Given the description of an element on the screen output the (x, y) to click on. 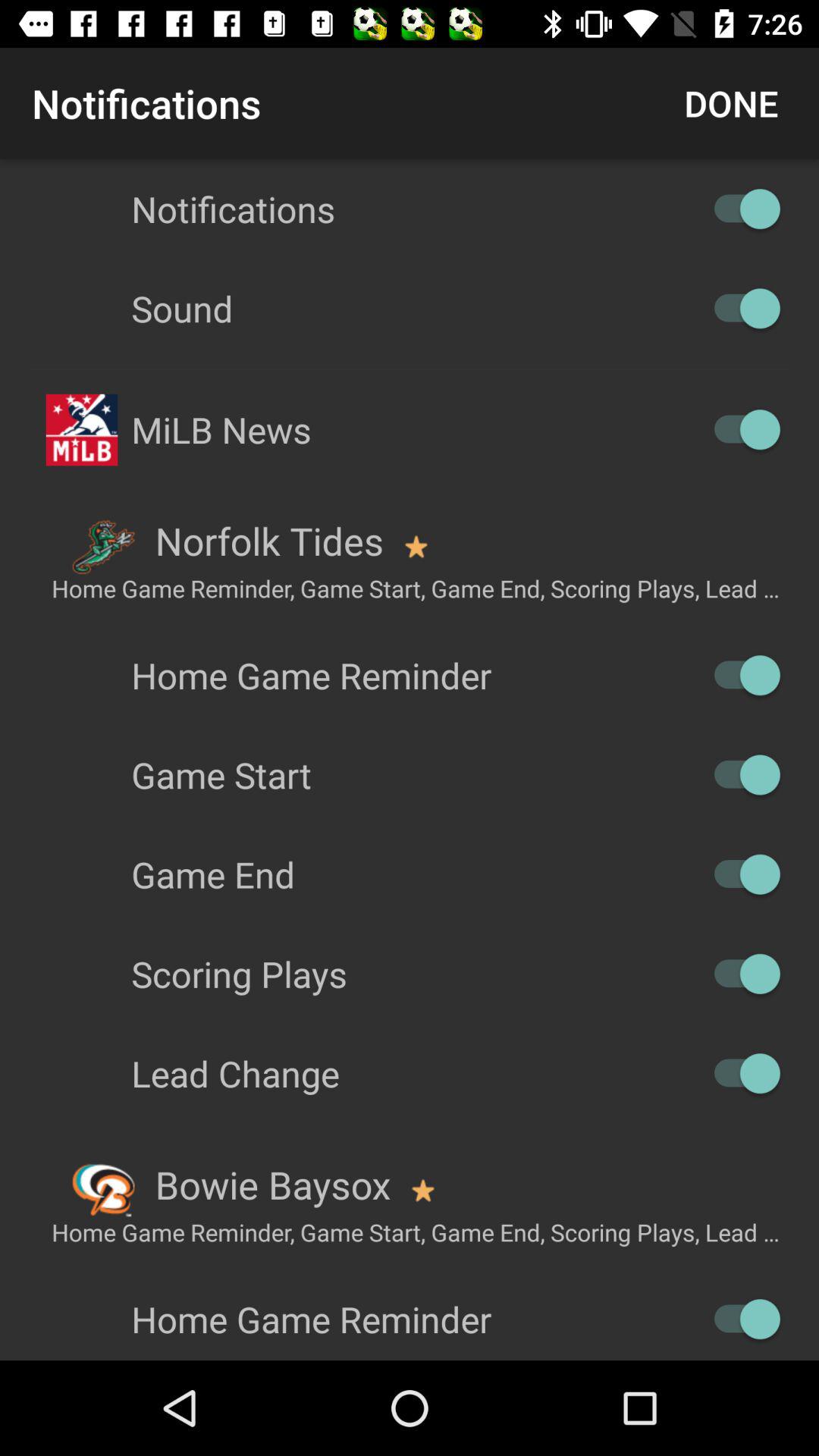
select off on option (739, 874)
